Given the description of an element on the screen output the (x, y) to click on. 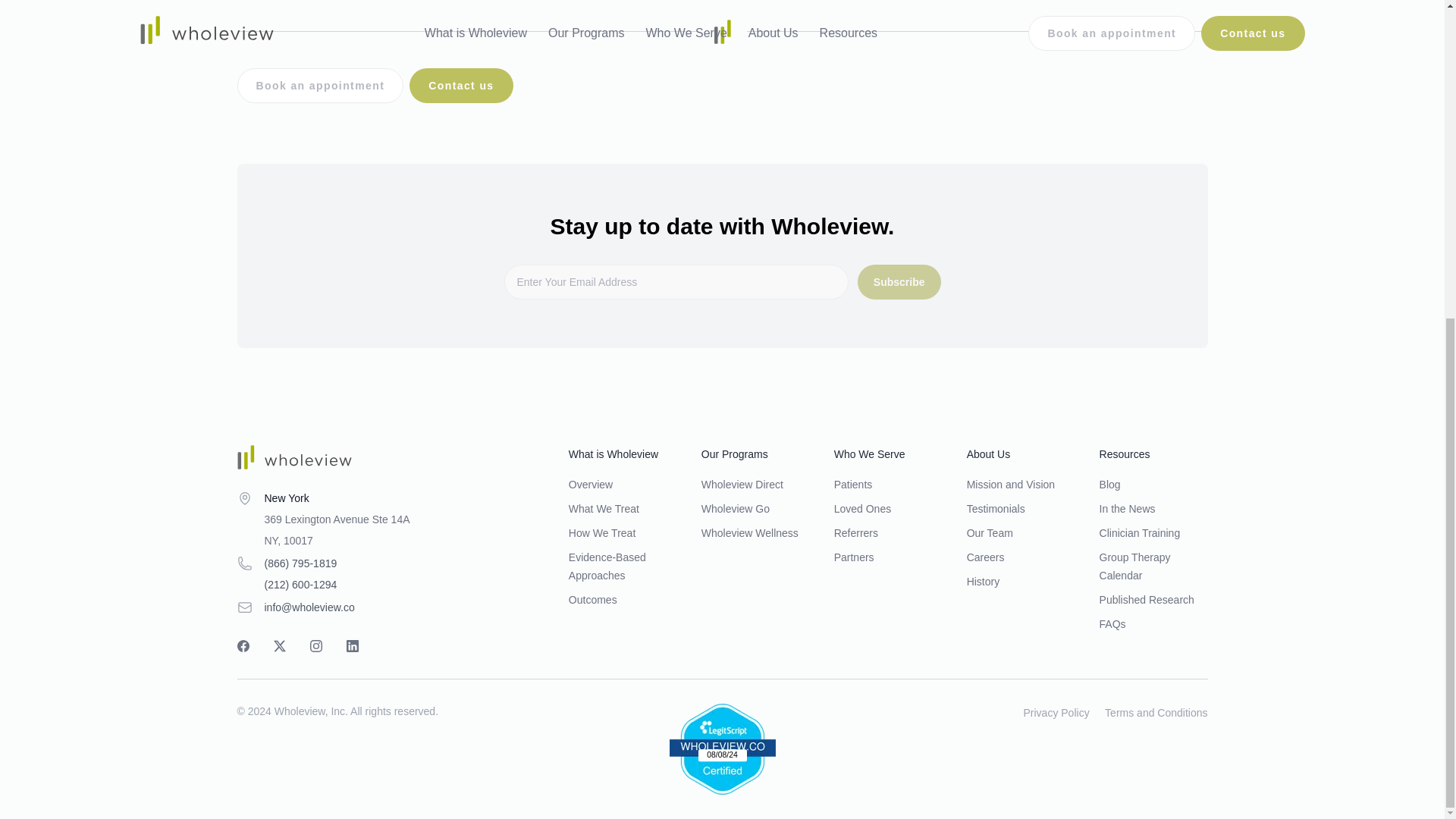
Contact us (460, 85)
Subscribe (898, 281)
Book an appointment (319, 85)
Subscribe (898, 281)
